Given the description of an element on the screen output the (x, y) to click on. 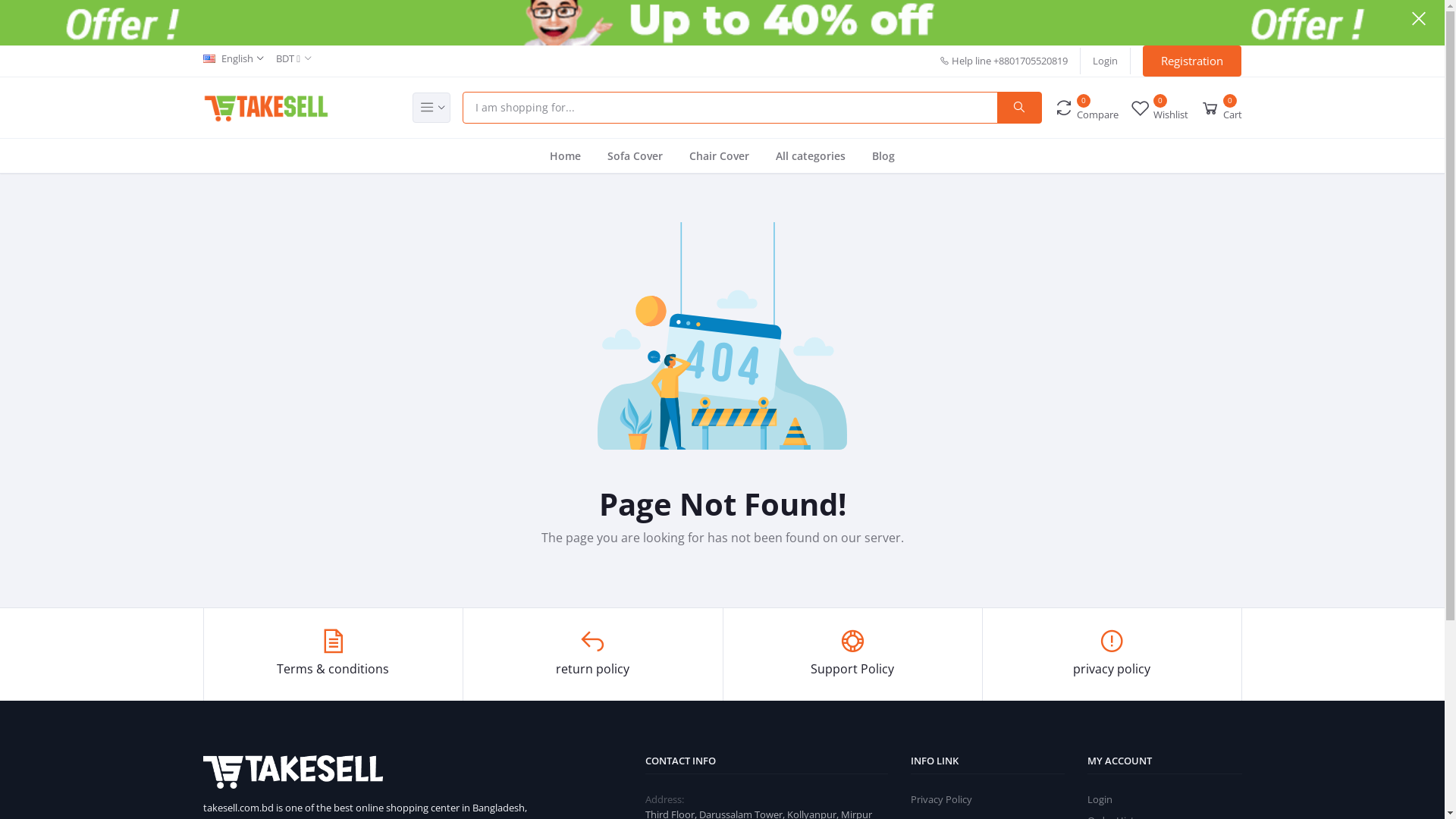
Support Policy Element type: text (851, 654)
0
Wishlist Element type: text (1158, 107)
English Element type: text (233, 58)
privacy policy Element type: text (1112, 654)
All categories Element type: text (810, 155)
0
Cart Element type: text (1220, 107)
Login Element type: text (1099, 799)
Blog Element type: text (882, 155)
Terms & conditions Element type: text (333, 654)
Chair Cover Element type: text (719, 155)
0
Compare Element type: text (1086, 107)
Privacy Policy Element type: text (941, 799)
Home Element type: text (565, 155)
Help line +8801705520819 Element type: text (1003, 61)
Sofa Cover Element type: text (634, 155)
return policy Element type: text (592, 654)
Login Element type: text (1104, 61)
Registration Element type: text (1191, 61)
